Given the description of an element on the screen output the (x, y) to click on. 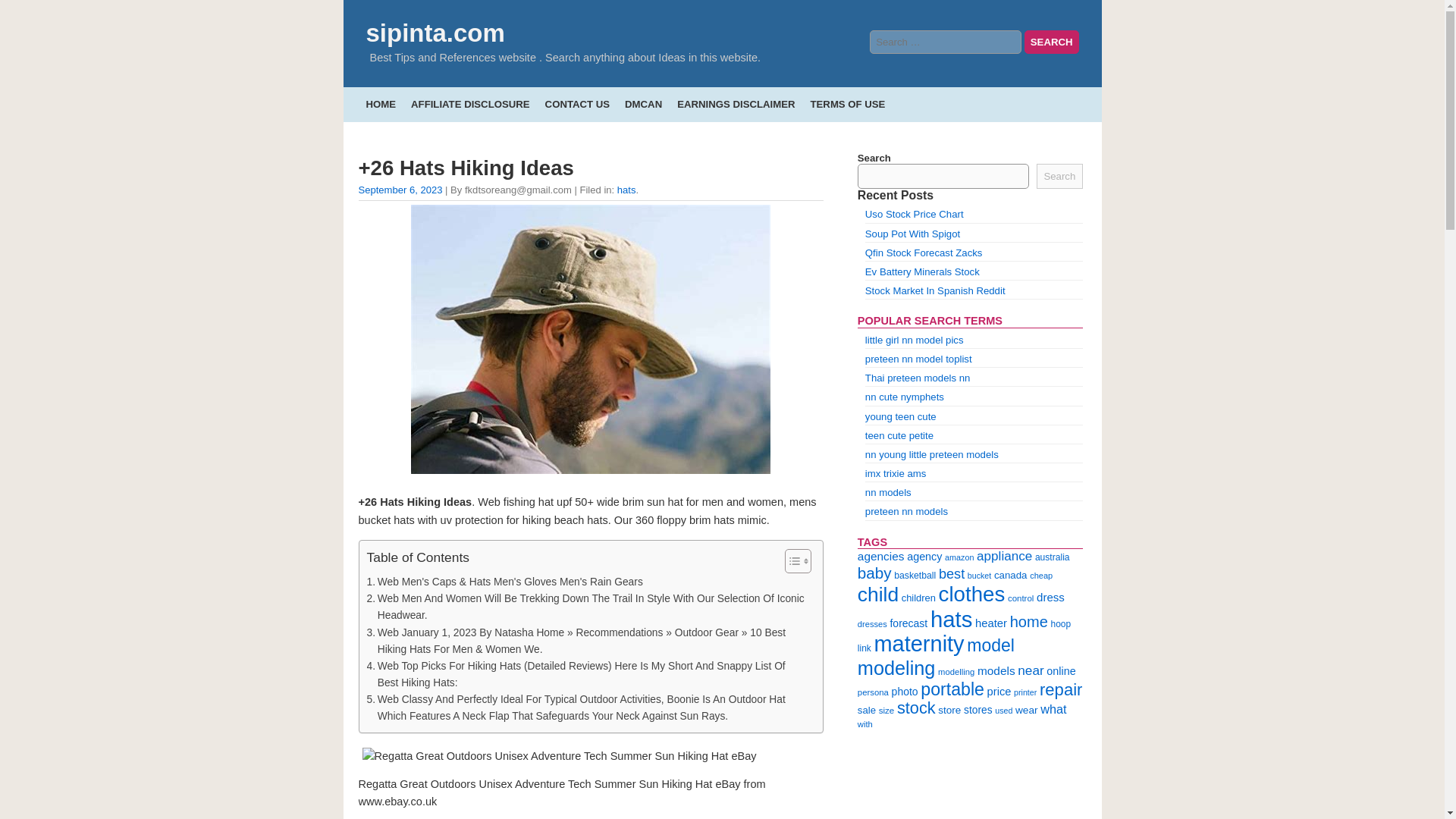
preteen nn model toplist (918, 358)
Search (1051, 42)
Ev Battery Minerals Stock (921, 271)
sipinta.com (434, 32)
CONTACT US (577, 103)
preteen nn models (905, 511)
